Given the description of an element on the screen output the (x, y) to click on. 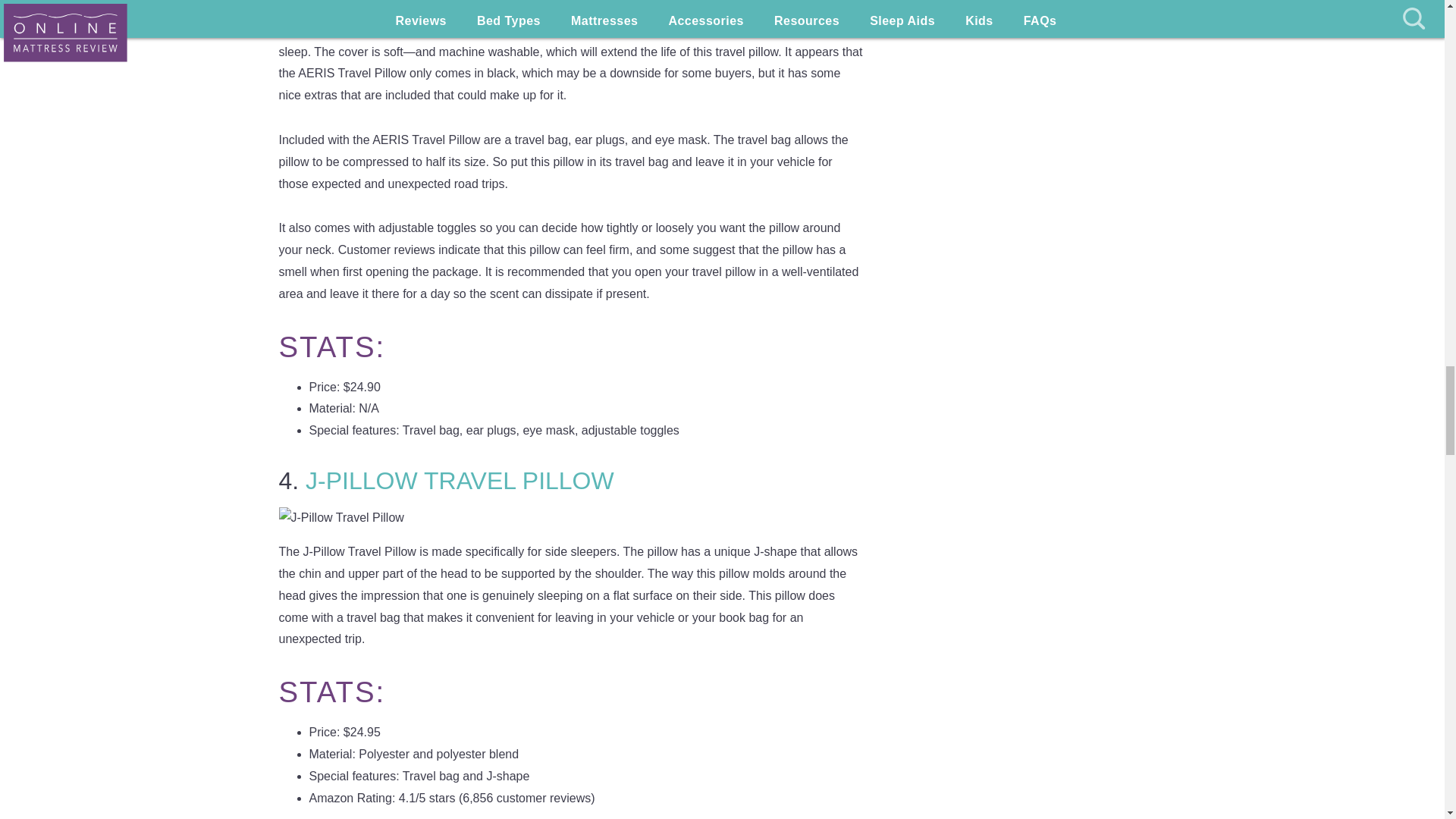
J-PILLOW TRAVEL PILLOW (459, 480)
